Given the description of an element on the screen output the (x, y) to click on. 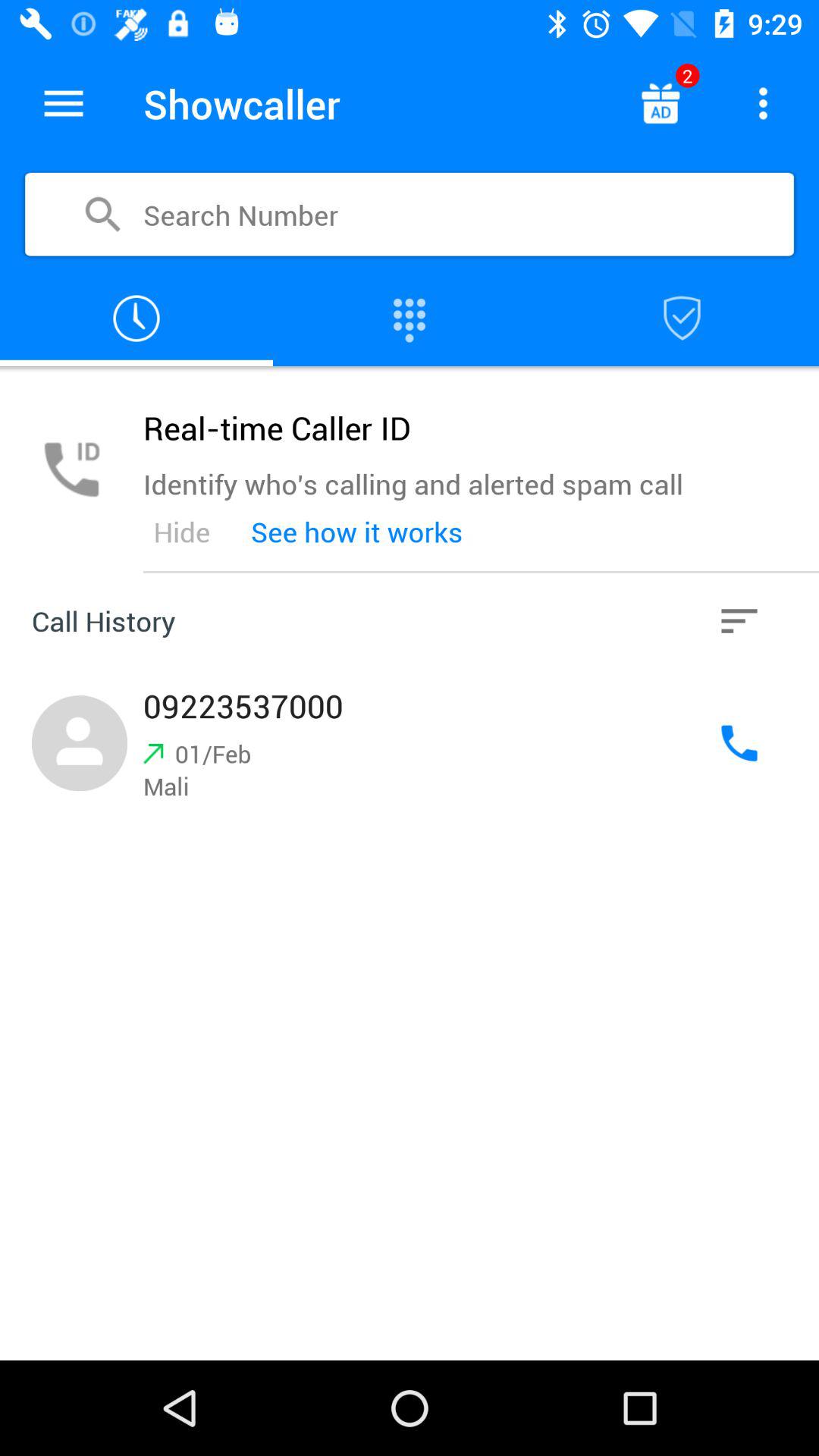
show the menu options (63, 103)
